Given the description of an element on the screen output the (x, y) to click on. 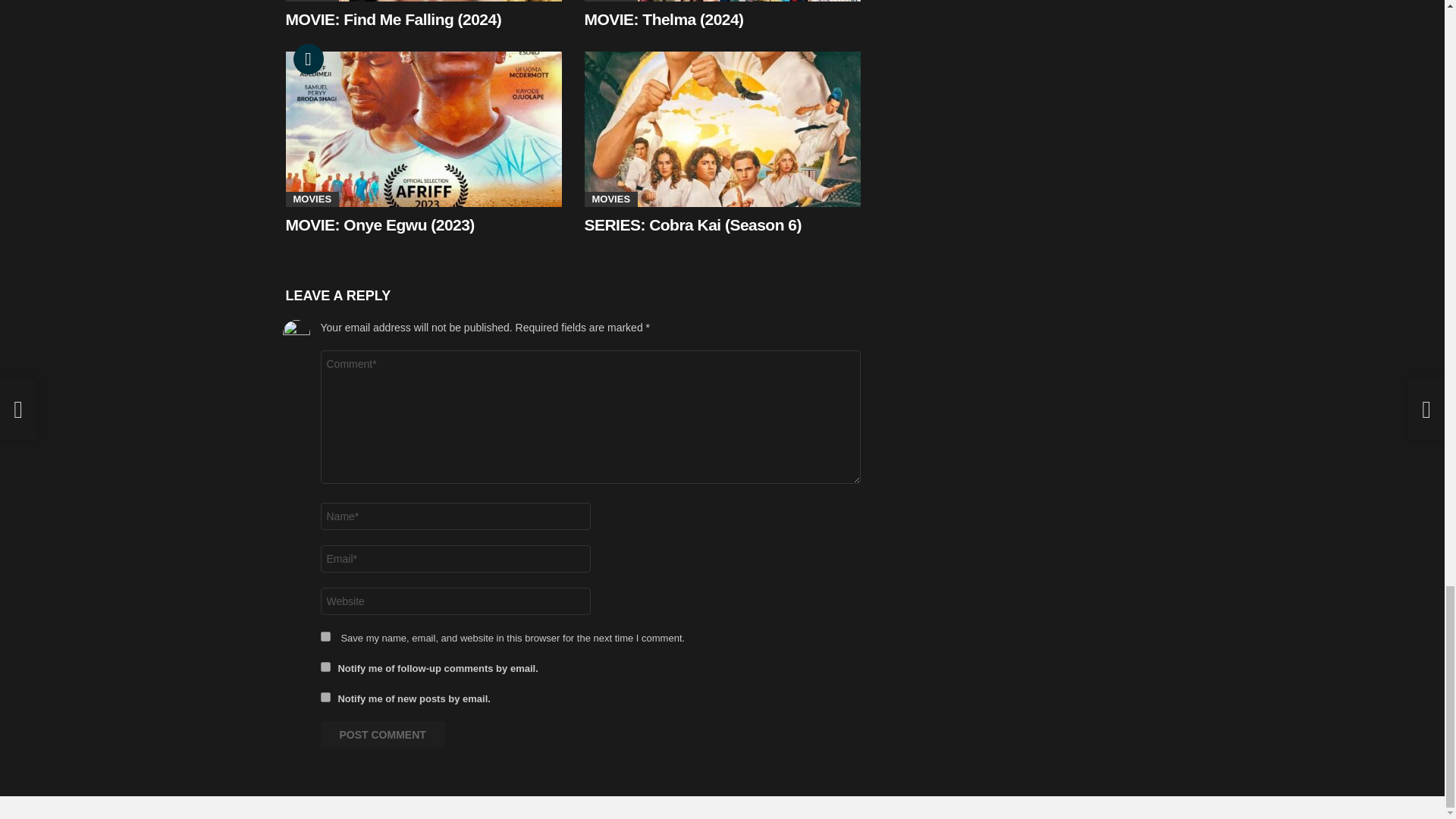
Post Comment (382, 734)
subscribe (325, 666)
subscribe (325, 696)
yes (325, 636)
